Given the description of an element on the screen output the (x, y) to click on. 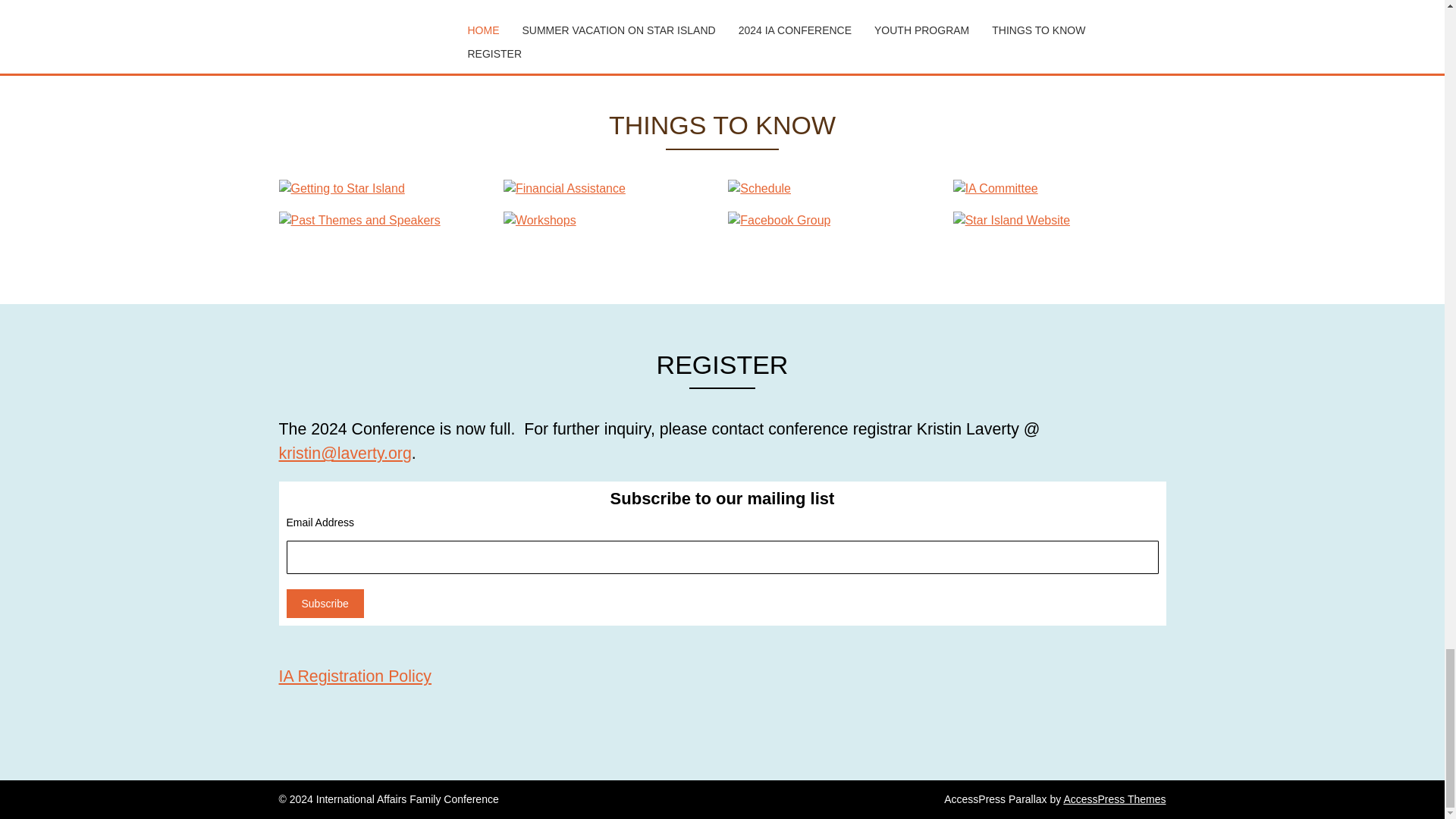
Star Island Website (1059, 220)
Schedule (834, 188)
Workshops (609, 220)
IA Committee (1059, 188)
Subscribe (325, 603)
Financial Assistance (609, 188)
Facebook Group (834, 220)
IA Registration Policy (355, 676)
Past Themes and Speakers (385, 220)
AccessPress Themes (1114, 799)
